Given the description of an element on the screen output the (x, y) to click on. 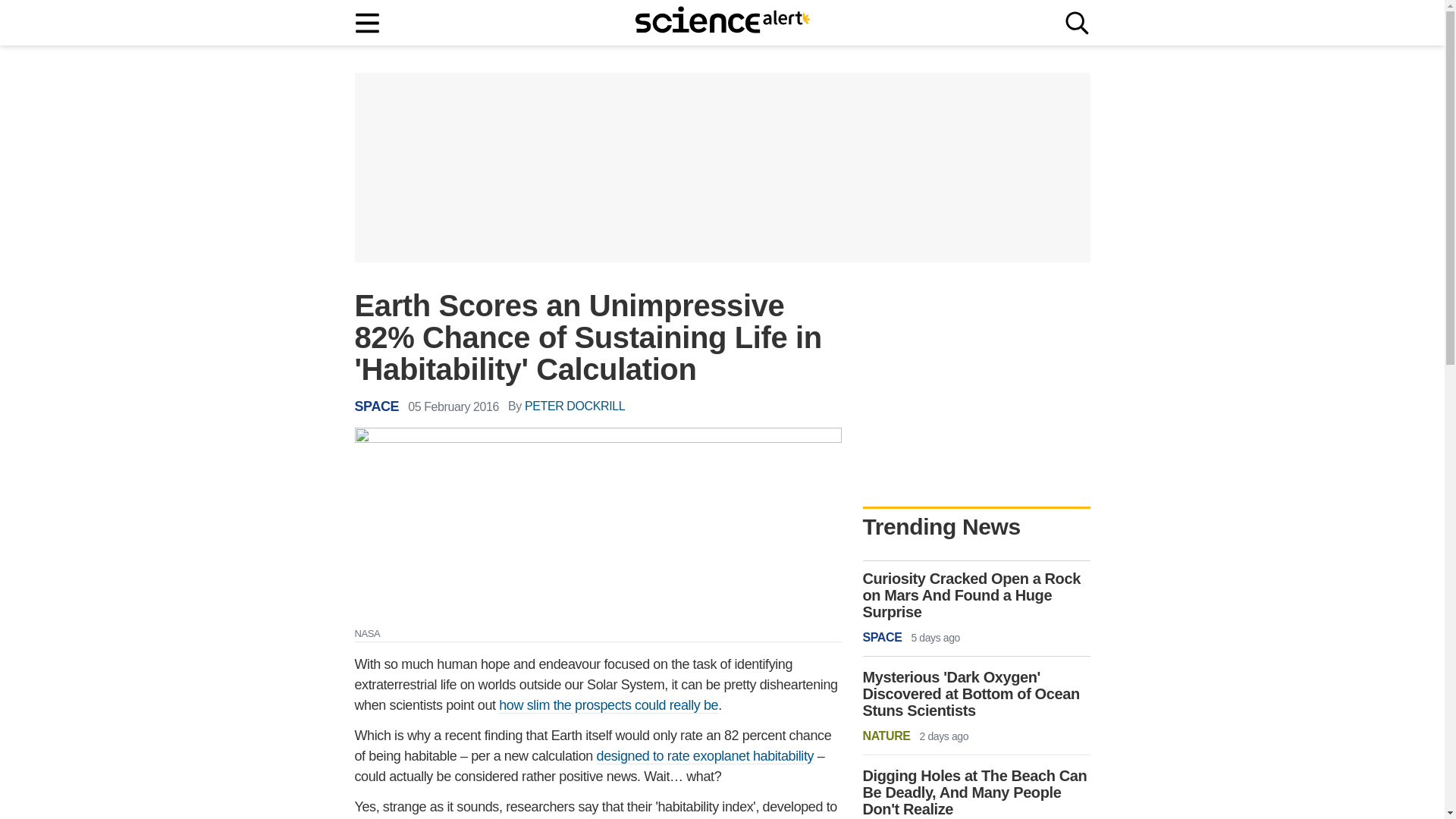
how slim the prospects could really be (608, 705)
designed to rate exoplanet habitability (704, 756)
SPACE (376, 406)
PETER DOCKRILL (574, 405)
